Given the description of an element on the screen output the (x, y) to click on. 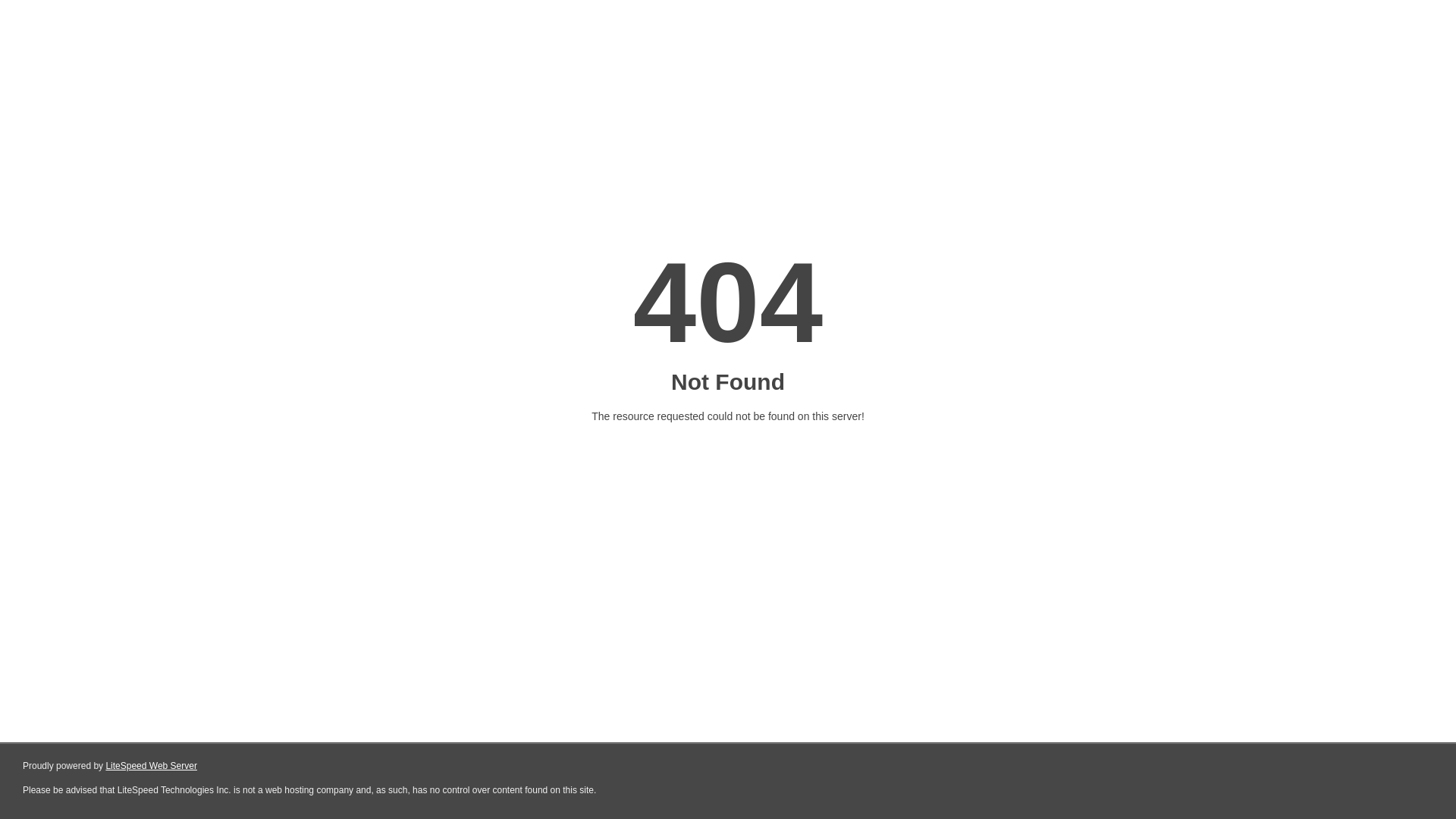
LiteSpeed Web Server Element type: text (151, 765)
